Given the description of an element on the screen output the (x, y) to click on. 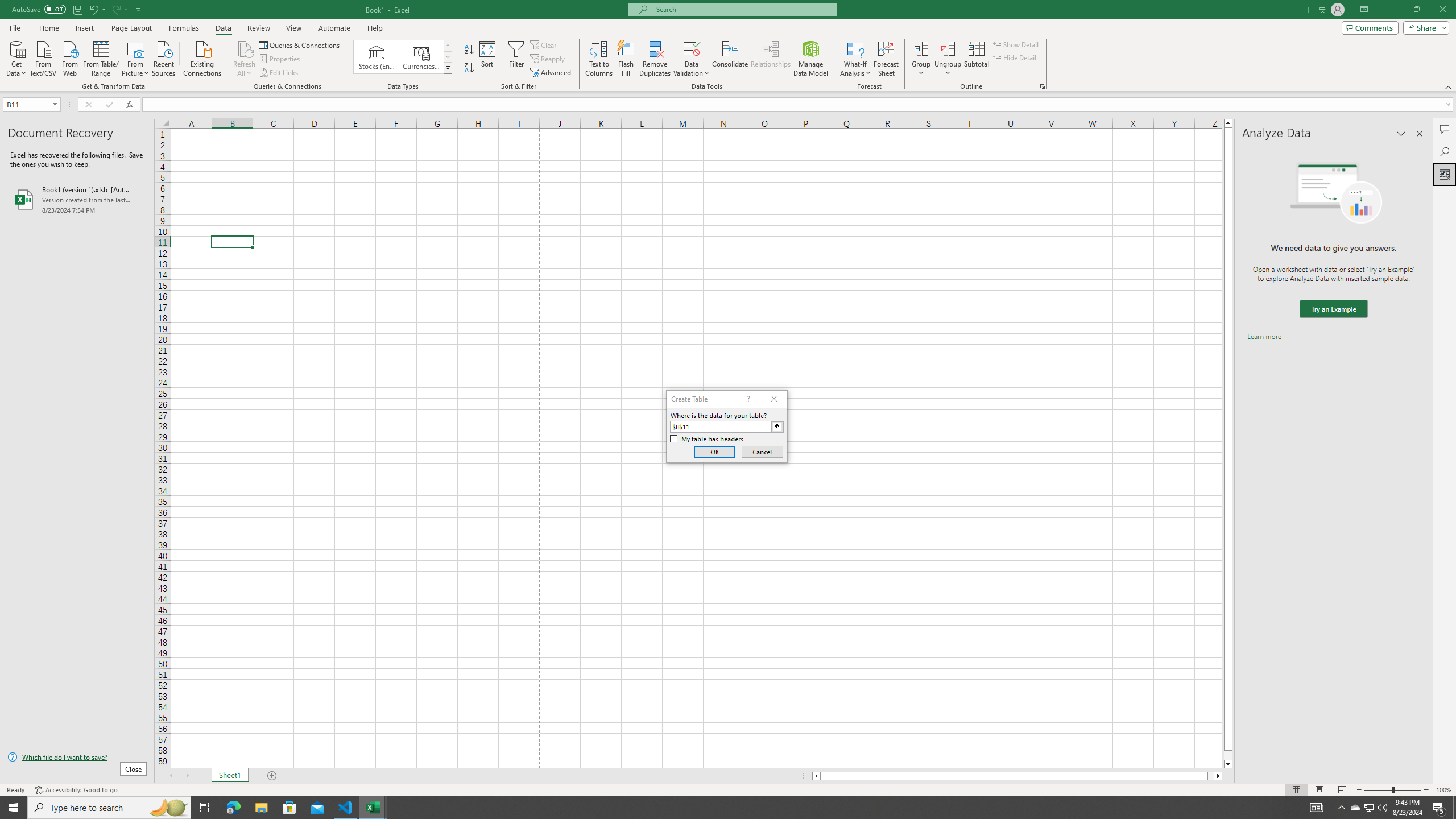
Manage Data Model (810, 58)
Queries & Connections (300, 44)
Relationships (770, 58)
Reapply (548, 58)
Class: MsoCommandBar (728, 45)
From Text/CSV (43, 57)
